Given the description of an element on the screen output the (x, y) to click on. 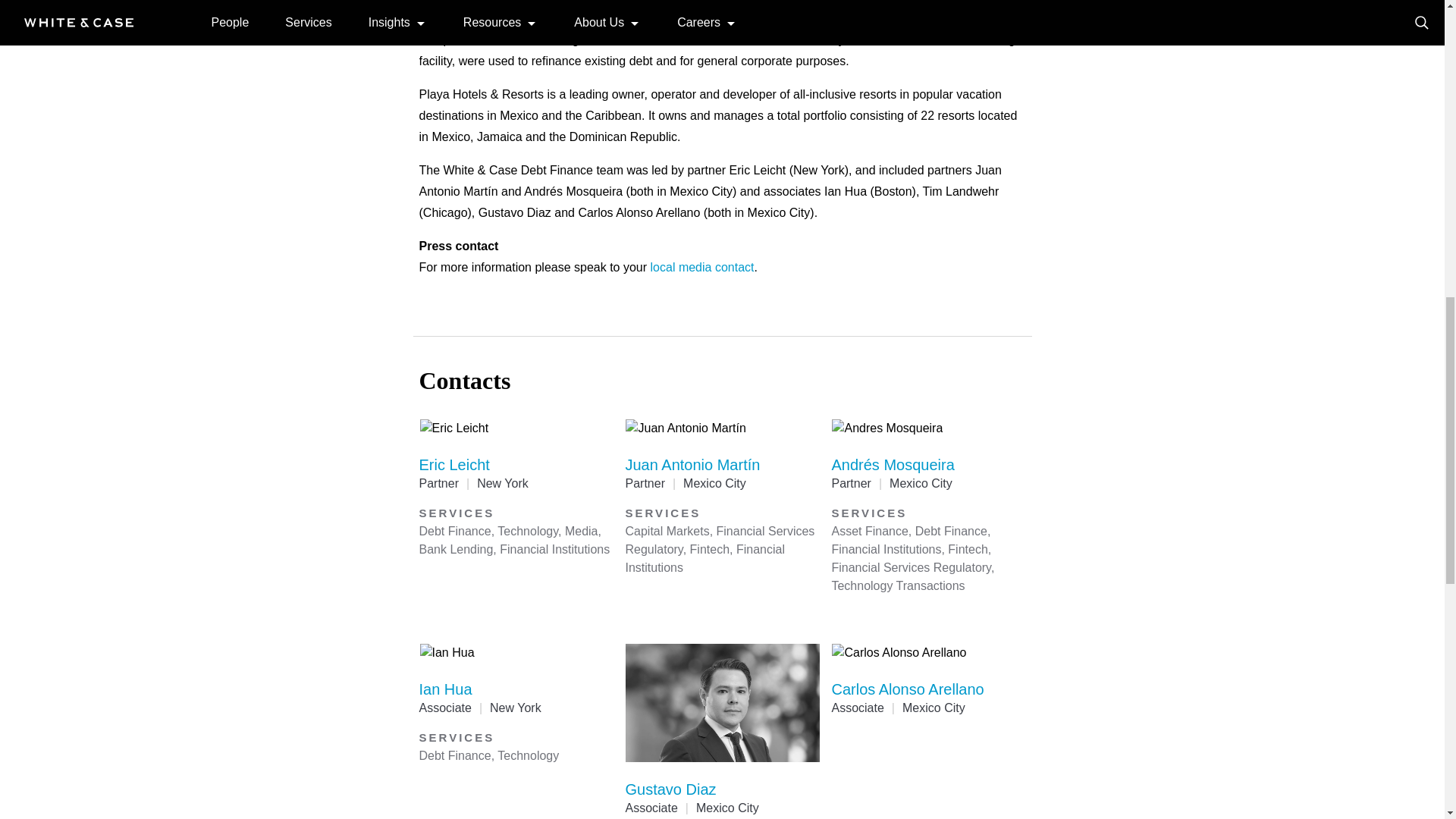
Ian Hua (445, 688)
Carlos Alonso Arellano (907, 688)
local media contact (702, 267)
Eric Leicht (454, 464)
Gustavo Diaz (670, 789)
